Given the description of an element on the screen output the (x, y) to click on. 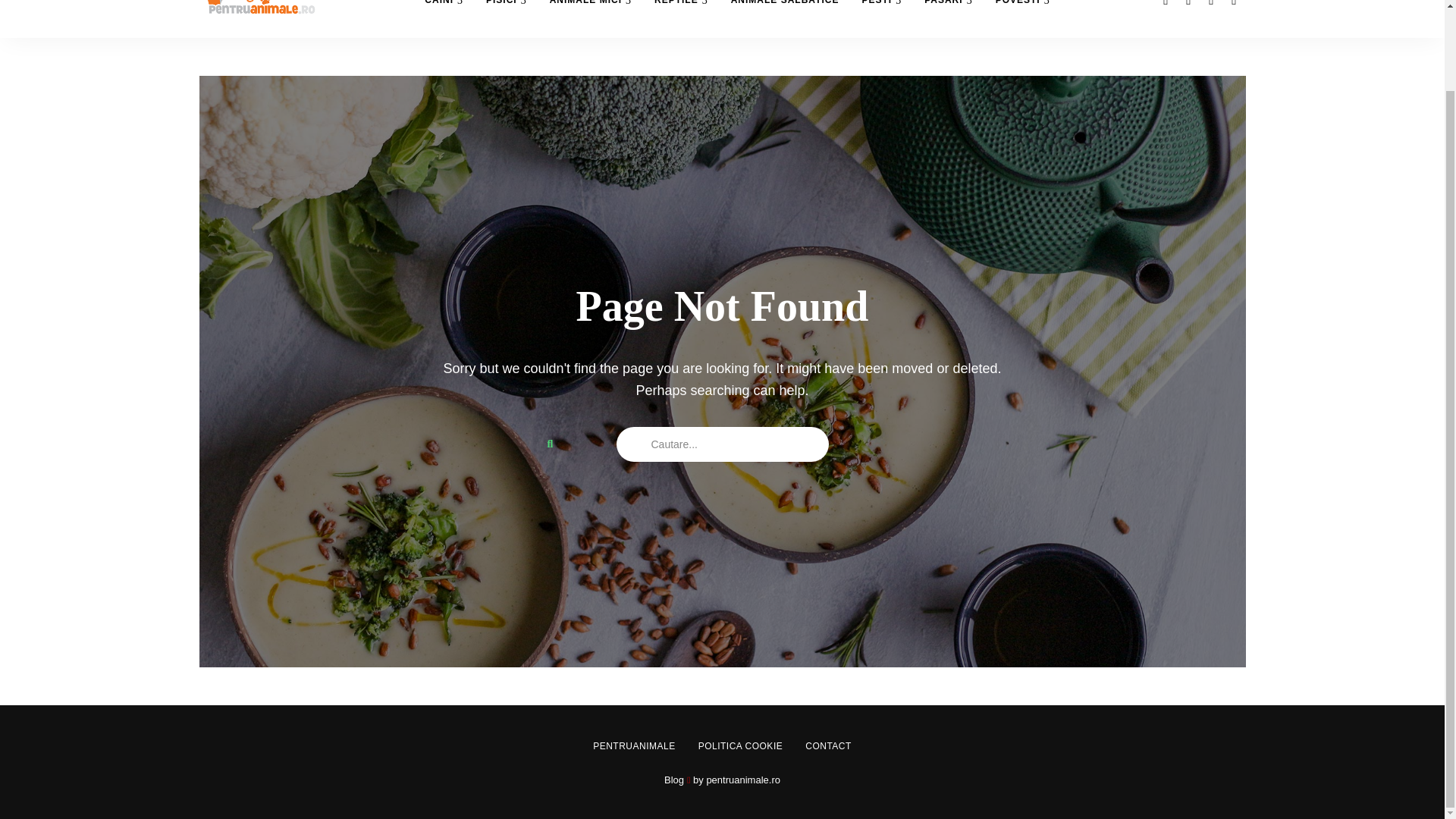
CAINI (443, 18)
PISICI (506, 18)
PASARI (948, 18)
ANIMALE SALBATICE (784, 18)
ANIMALE MICI (590, 18)
POVESTI (1022, 18)
PESTI (881, 18)
REPTILE (681, 18)
